Given the description of an element on the screen output the (x, y) to click on. 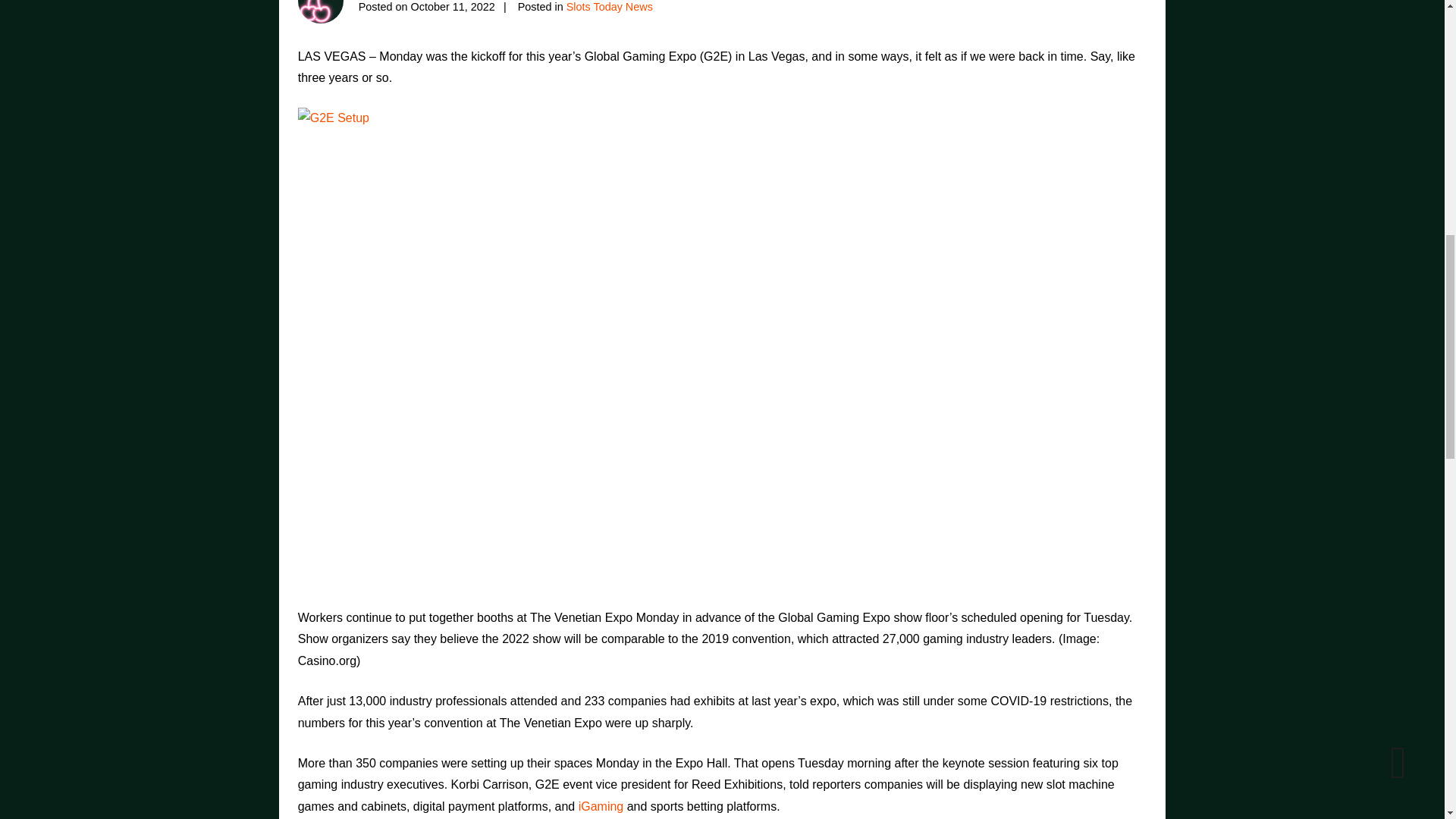
Slots Today News (609, 6)
iGaming (601, 806)
